Given the description of an element on the screen output the (x, y) to click on. 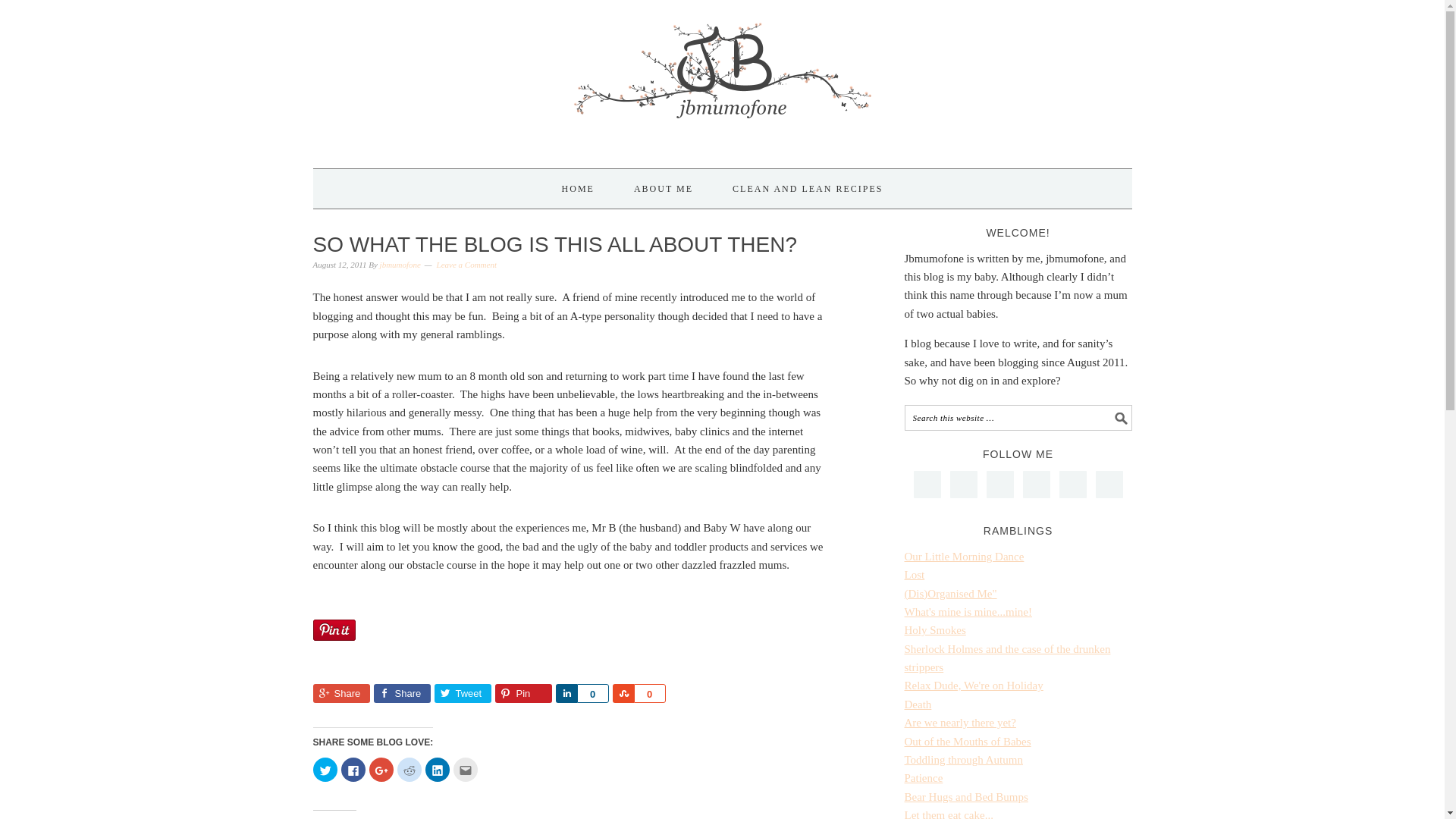
Click to email this to a friend (464, 769)
Share (565, 692)
Leave a Comment (466, 264)
0 (649, 692)
Click to share on Facebook (352, 769)
MUM OF ONE (722, 77)
0 (592, 692)
HOME (577, 188)
CLEAN AND LEAN RECIPES (807, 188)
Share (400, 692)
jbmumofone (400, 264)
Click to share on Reddit (409, 769)
Pin (523, 692)
